Given the description of an element on the screen output the (x, y) to click on. 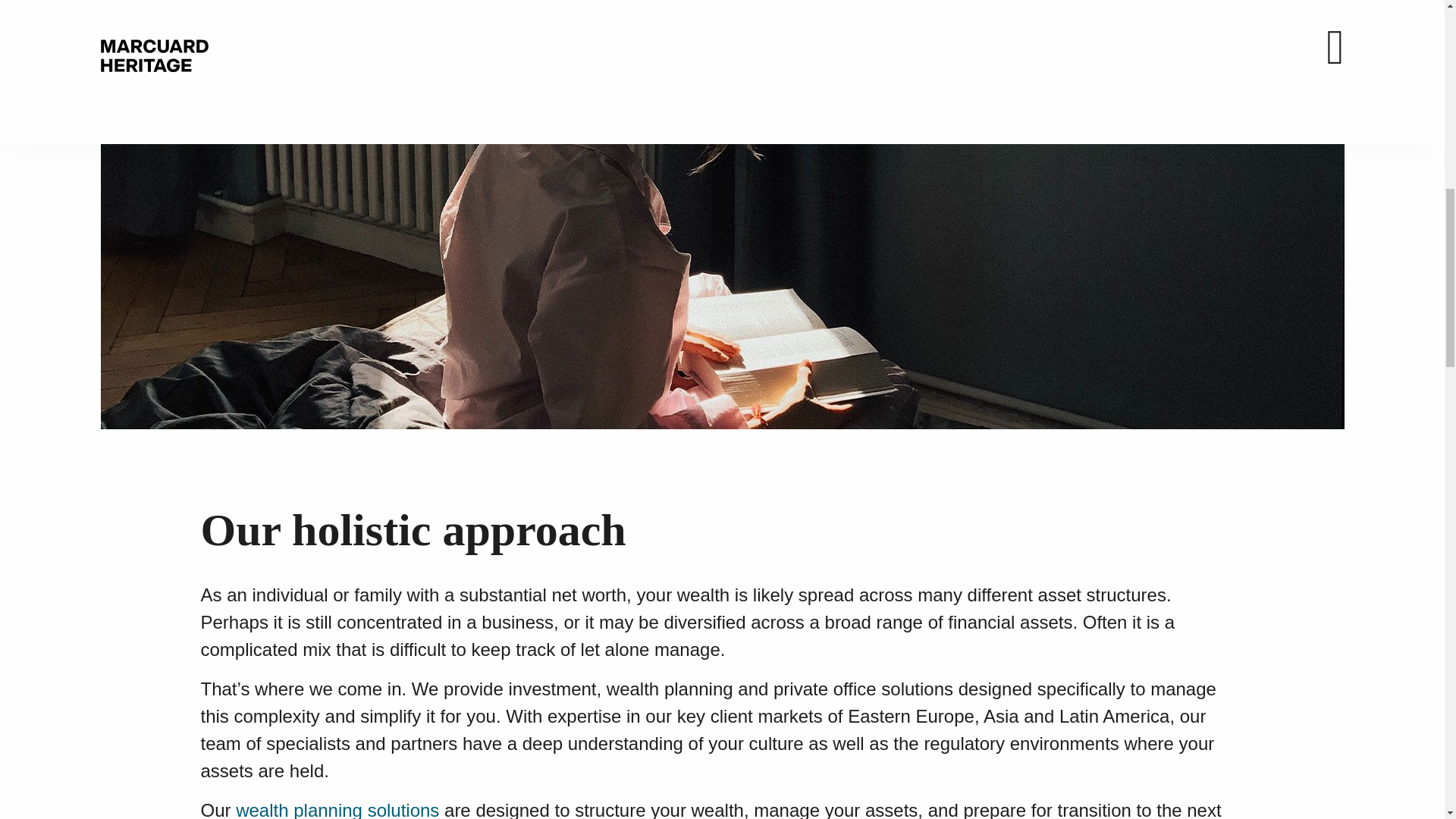
wealth planning solutions (337, 809)
